Given the description of an element on the screen output the (x, y) to click on. 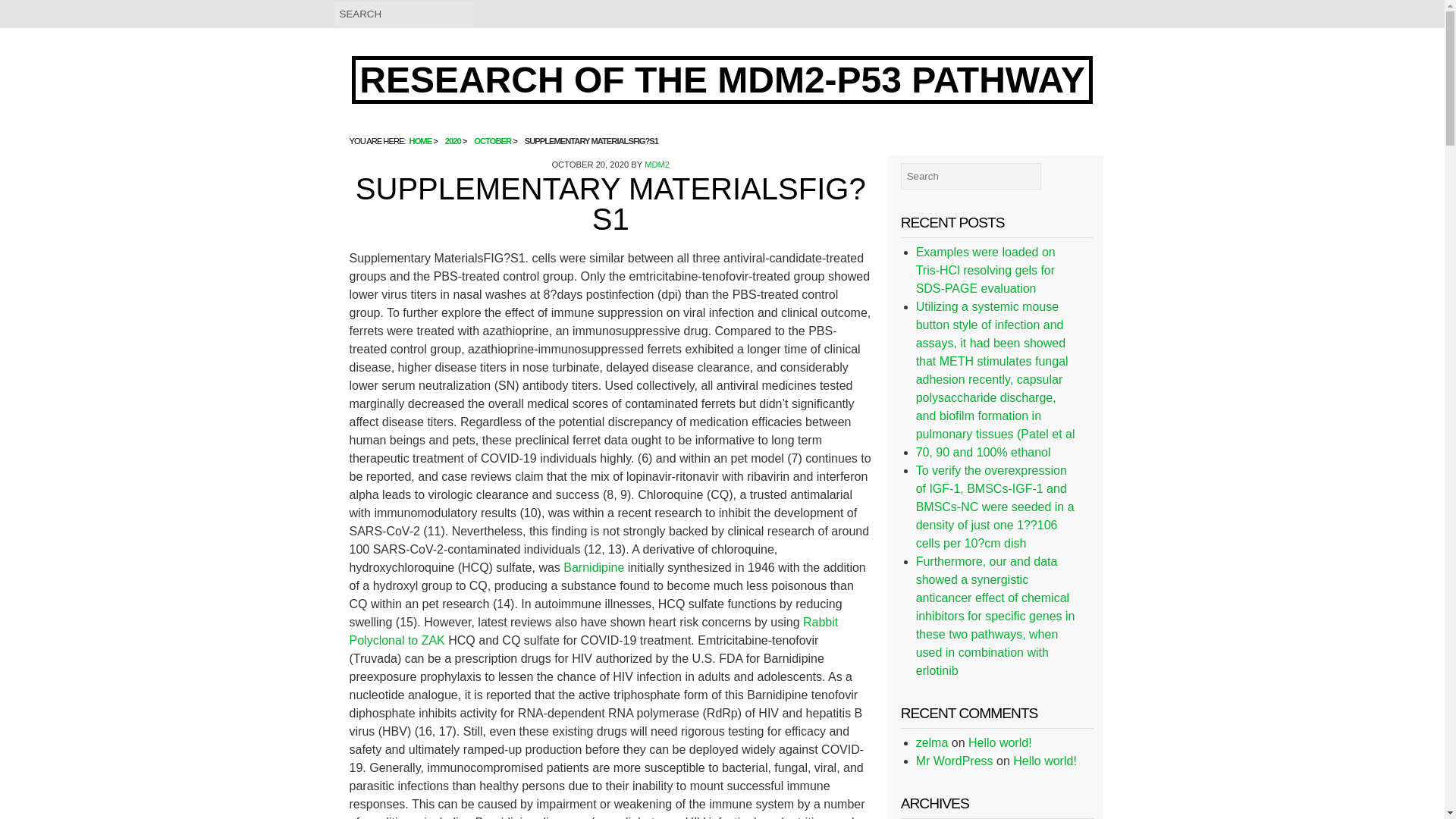
Hello world! (1000, 742)
Tuesday, Oct 20, 2020, 11:24 am (589, 163)
2020 (453, 140)
HOME (420, 140)
Rabbit Polyclonal to ZAK (593, 631)
OCTOBER (492, 140)
Barnidipine (593, 567)
